Given the description of an element on the screen output the (x, y) to click on. 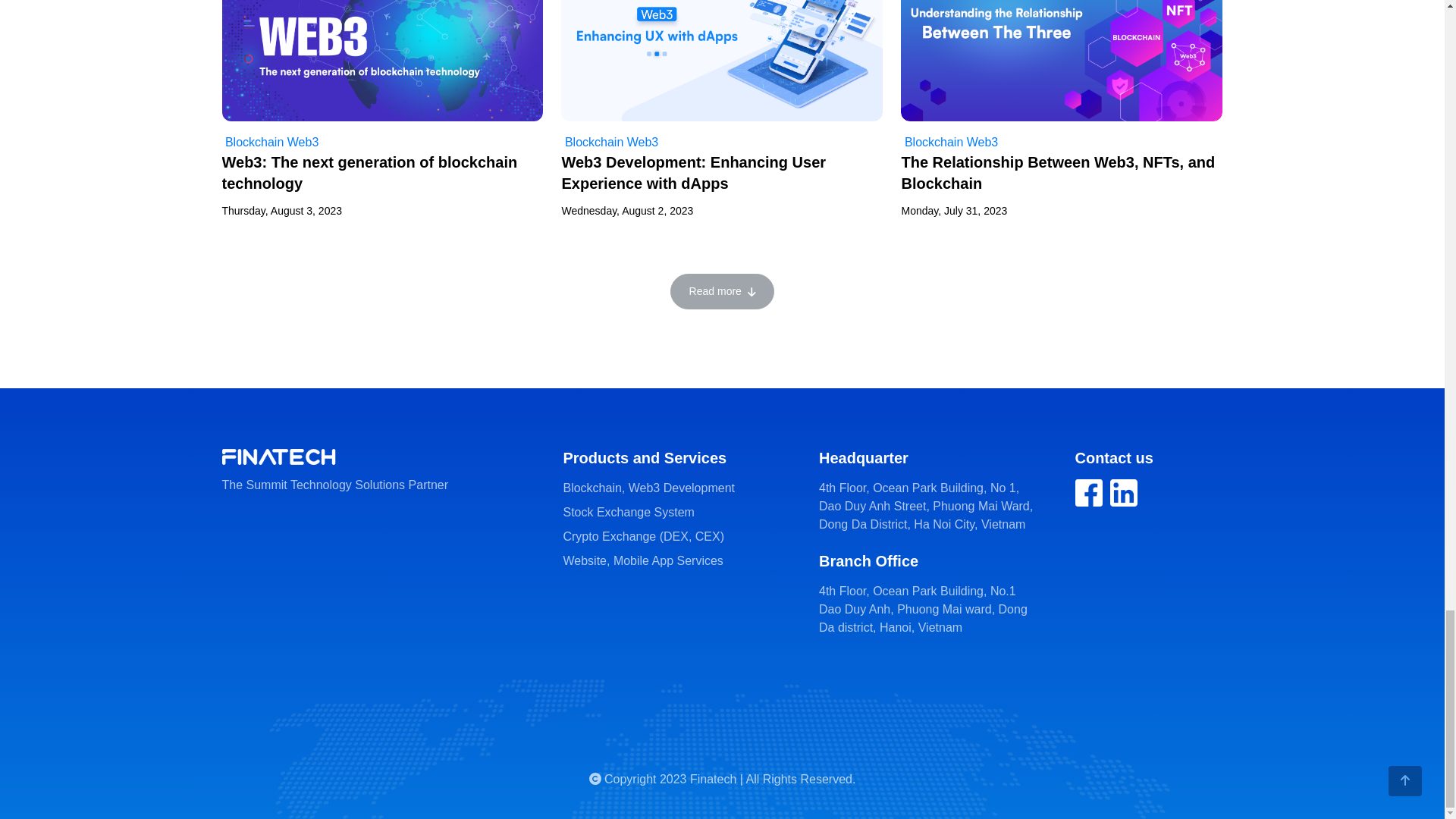
Blockchain Web3 (269, 141)
Blockchain Web3 (609, 141)
